Given the description of an element on the screen output the (x, y) to click on. 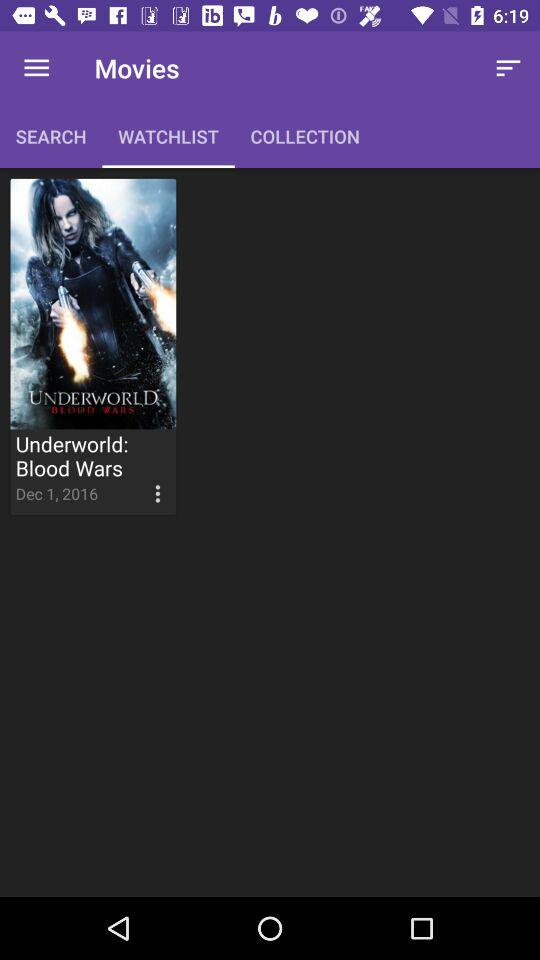
turn off the icon to the right of the collection item (508, 67)
